Given the description of an element on the screen output the (x, y) to click on. 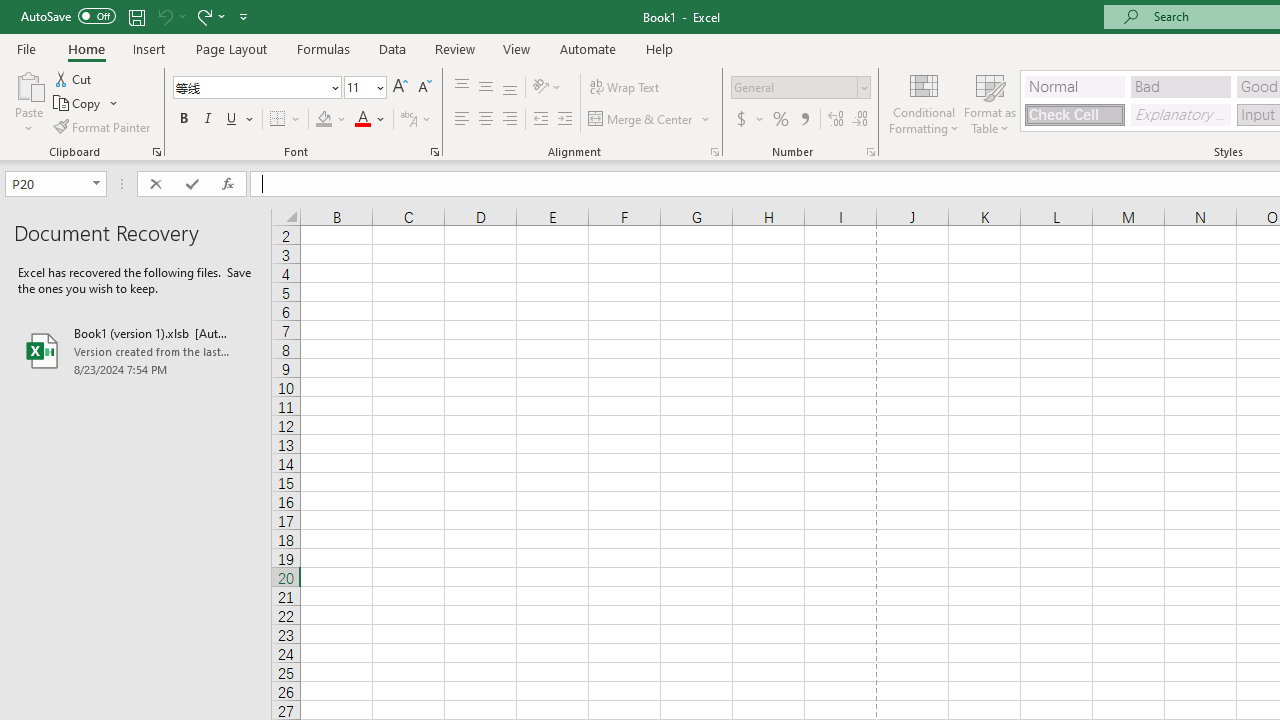
Accounting Number Format (749, 119)
Align Right (509, 119)
Wrap Text (624, 87)
Copy (85, 103)
Font (256, 87)
